Given the description of an element on the screen output the (x, y) to click on. 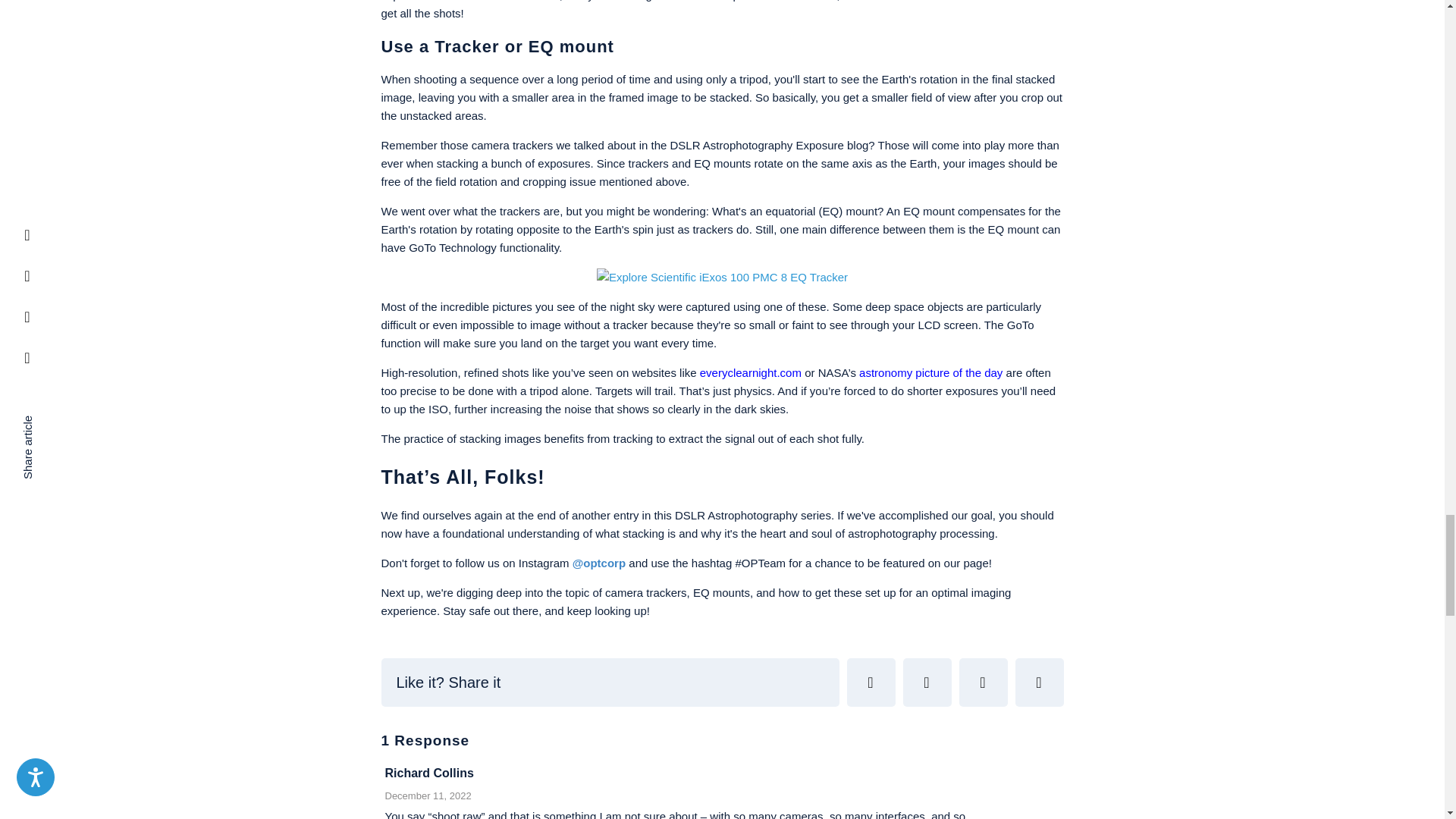
Nasa Astronomy Picture of the Day (931, 371)
Email this to a friend (1038, 682)
Share this on Facebook (926, 682)
Share this on Twitter (870, 682)
Share this on Pinterest (982, 682)
Every Clear Night (751, 371)
